Given the description of an element on the screen output the (x, y) to click on. 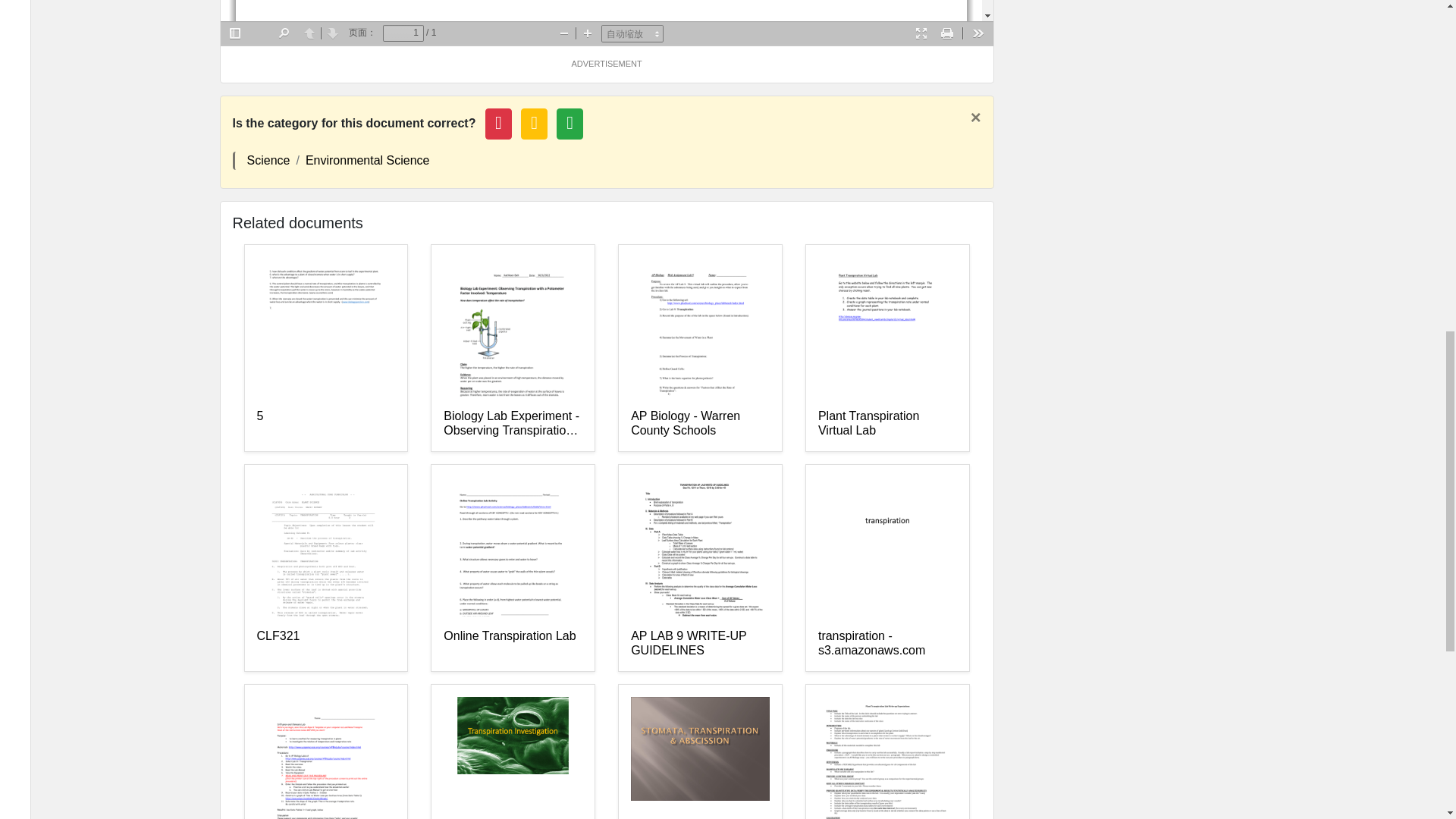
Plant Transpiration Virtual Lab (887, 423)
Plant Transpiration Virtual Lab (887, 423)
CLF321 (325, 643)
AP LAB 9 WRITE-UP GUIDELINES (700, 643)
5 (325, 423)
AP Biology - Warren County Schools (700, 423)
Environmental Science (367, 160)
5 (325, 423)
